Given the description of an element on the screen output the (x, y) to click on. 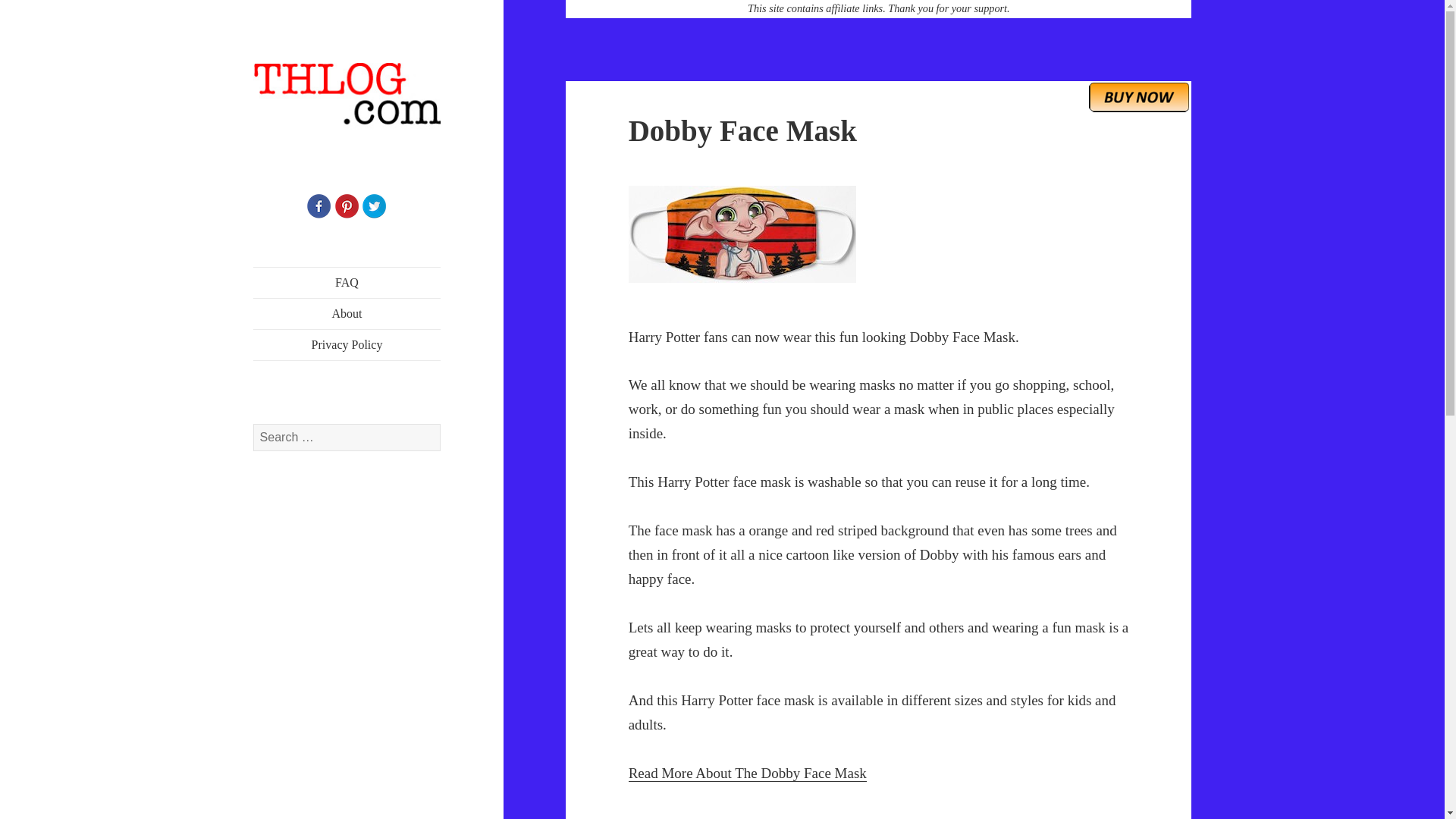
Privacy Policy (347, 345)
Read More About The Dobby Face Mask (747, 773)
FAQ (347, 282)
buy Dobby Face Mask (1139, 96)
About (347, 313)
